Given the description of an element on the screen output the (x, y) to click on. 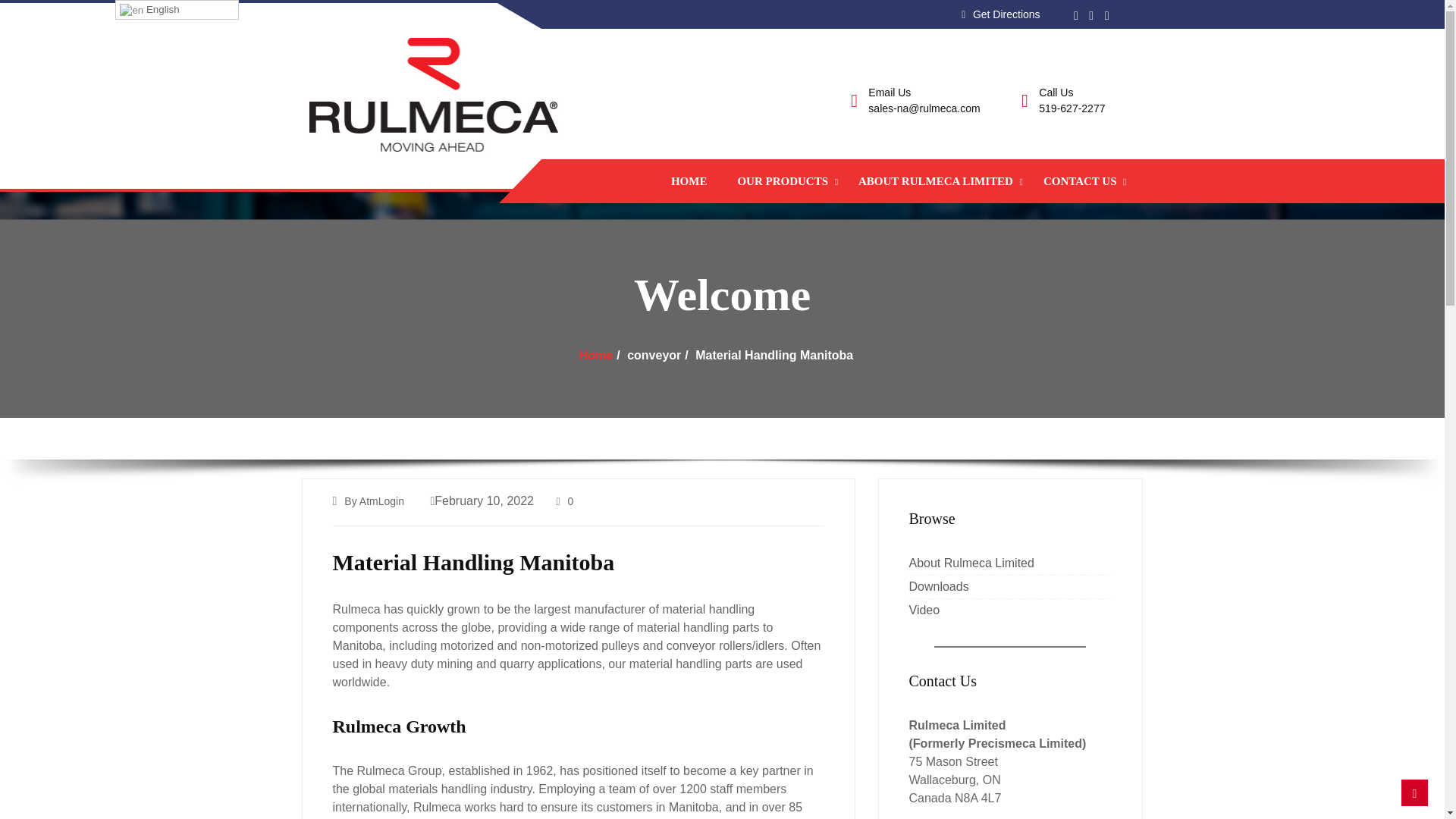
ABOUT RULMECA LIMITED (935, 180)
Back to Top (1414, 792)
HOME (688, 180)
Home (595, 354)
About Rulmeca Limited (970, 562)
Video (923, 609)
Get Directions (1006, 14)
Downloads (938, 585)
519-627-2277 (1072, 108)
CONTACT US (1080, 180)
